Given the description of an element on the screen output the (x, y) to click on. 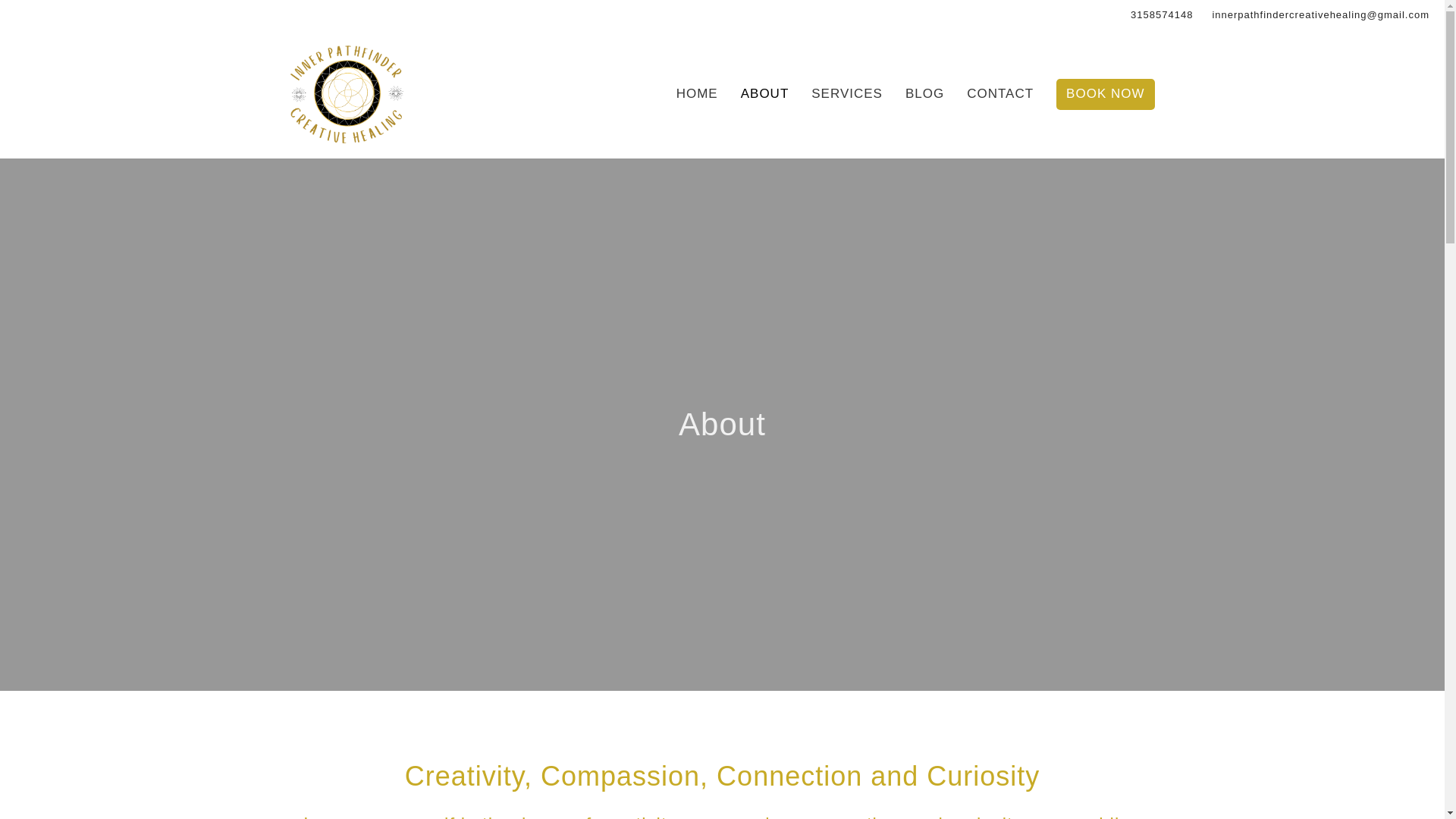
ABOUT (765, 93)
HOME (697, 93)
BLOG (924, 93)
3158574148 (1160, 15)
SERVICES (846, 93)
CONTACT (999, 93)
BOOK NOW (1105, 93)
